Given the description of an element on the screen output the (x, y) to click on. 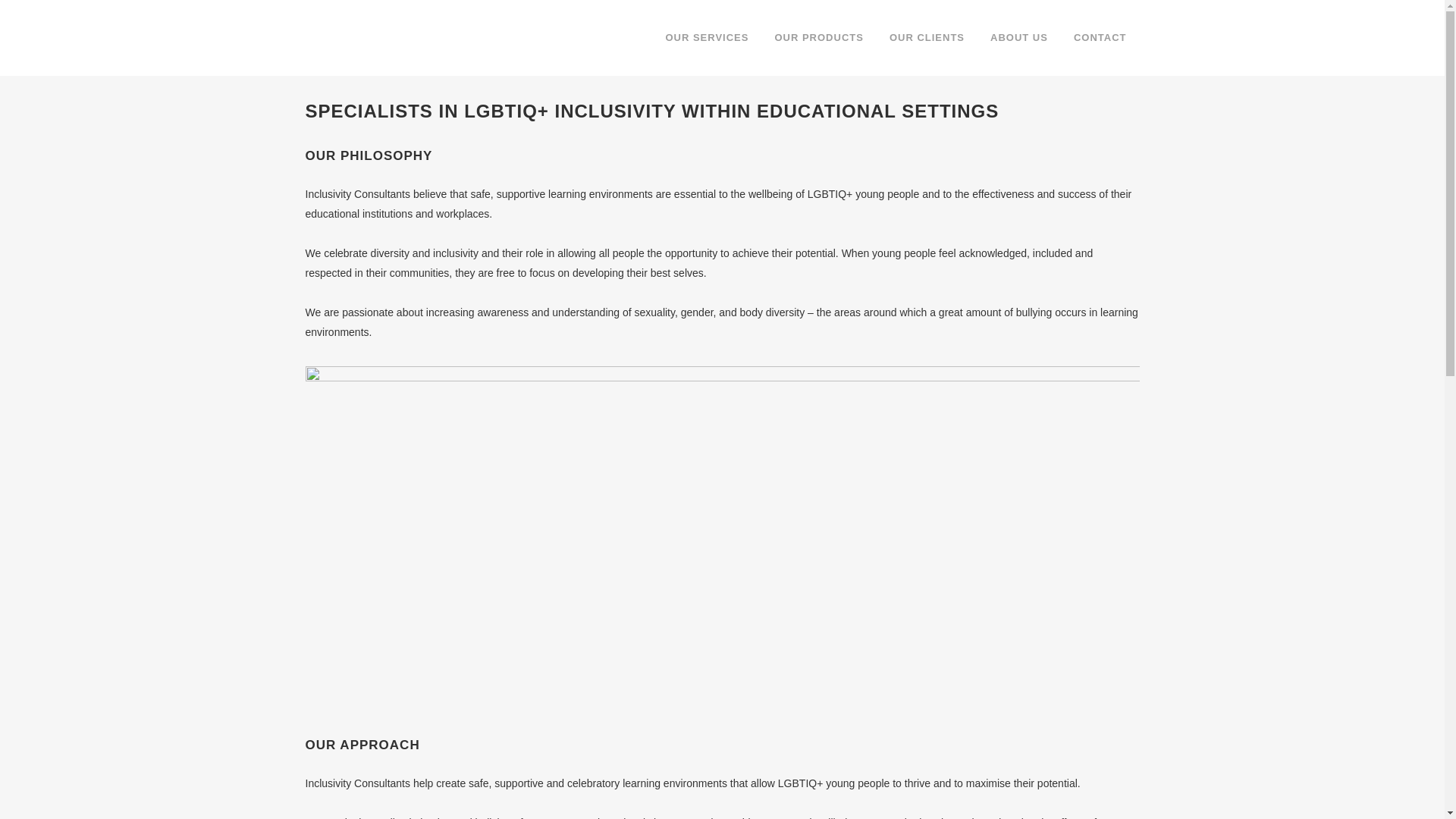
OUR SERVICES Element type: text (706, 37)
OUR PRODUCTS Element type: text (818, 37)
CONTACT Element type: text (1099, 37)
ABOUT US Element type: text (1018, 37)
OUR CLIENTS Element type: text (926, 37)
